Given the description of an element on the screen output the (x, y) to click on. 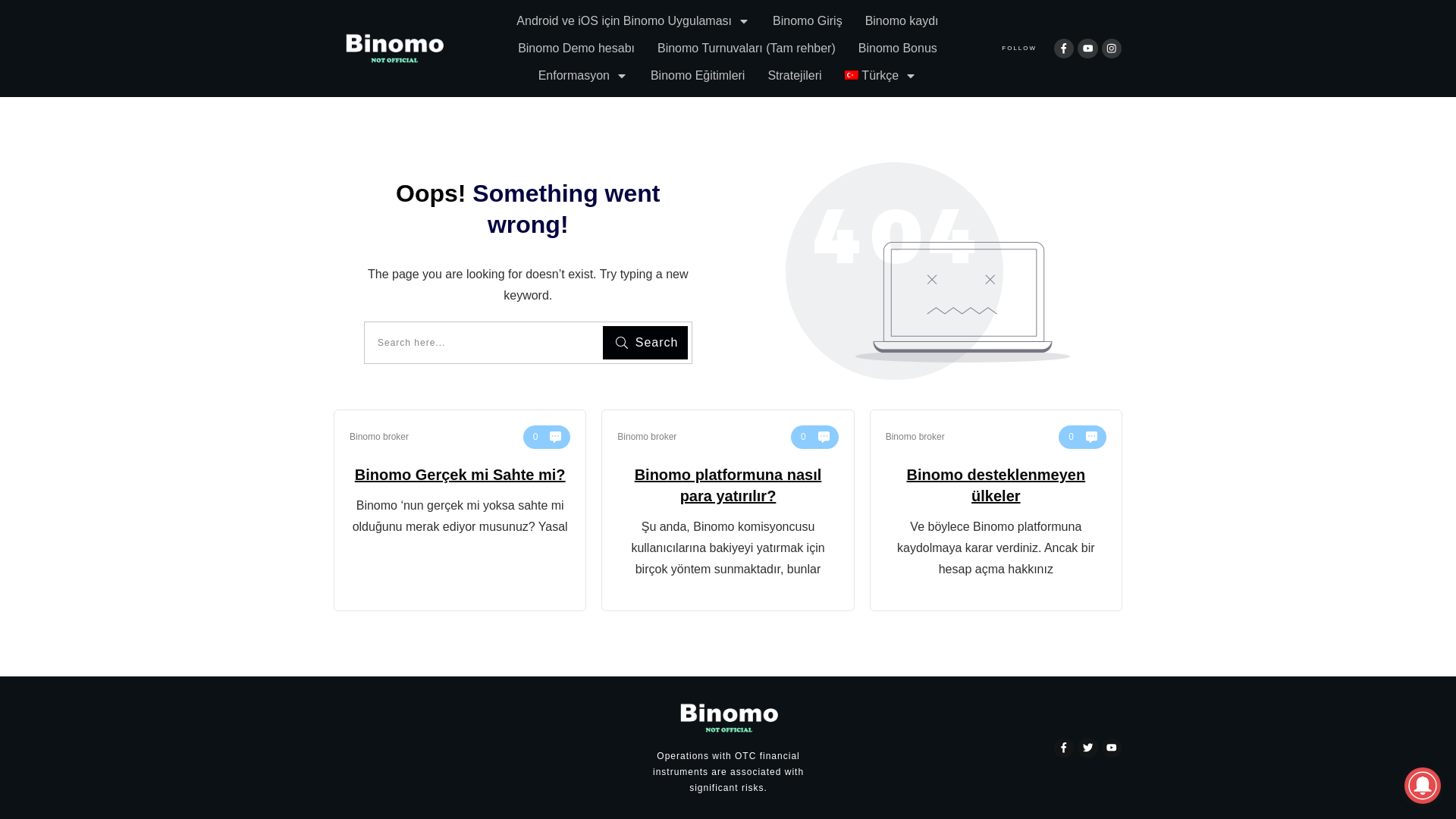
Binomo broker Element type: text (378, 436)
Stratejileri Element type: text (794, 75)
Binomo broker Element type: text (646, 436)
Binomo broker Element type: text (914, 436)
Binomo Bonus Element type: text (897, 48)
404 Element type: hover (927, 270)
Search Element type: text (644, 342)
Enformasyon Element type: text (582, 75)
